Given the description of an element on the screen output the (x, y) to click on. 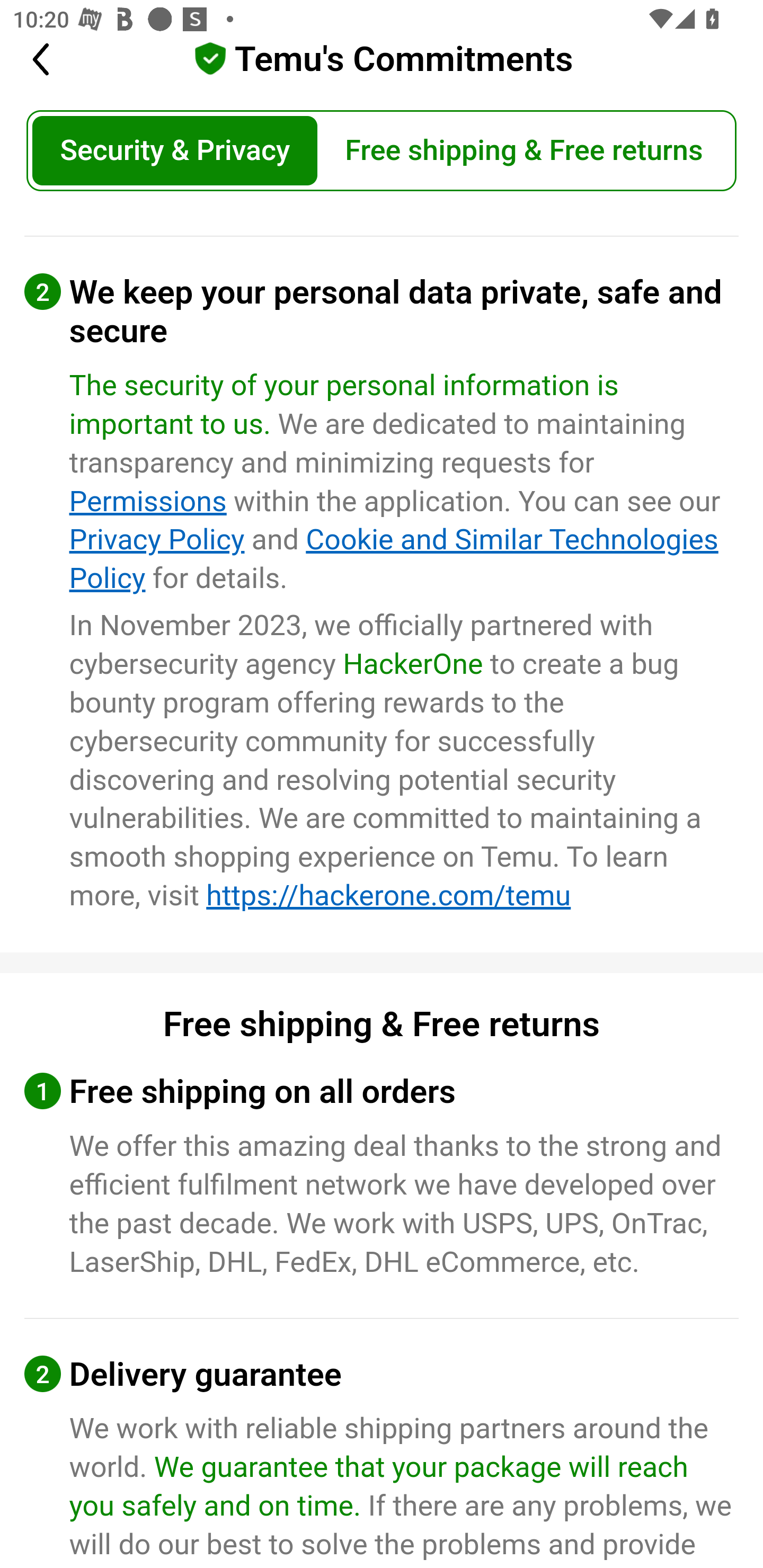
Back (51, 60)
Security & Privacy (175, 151)
Free shipping & Free returns (523, 151)
Permissions (147, 501)
Privacy Policy (156, 540)
Cookie and Similar Technologies Policy (393, 559)
https://hackerone.com/temu (388, 896)
